Given the description of an element on the screen output the (x, y) to click on. 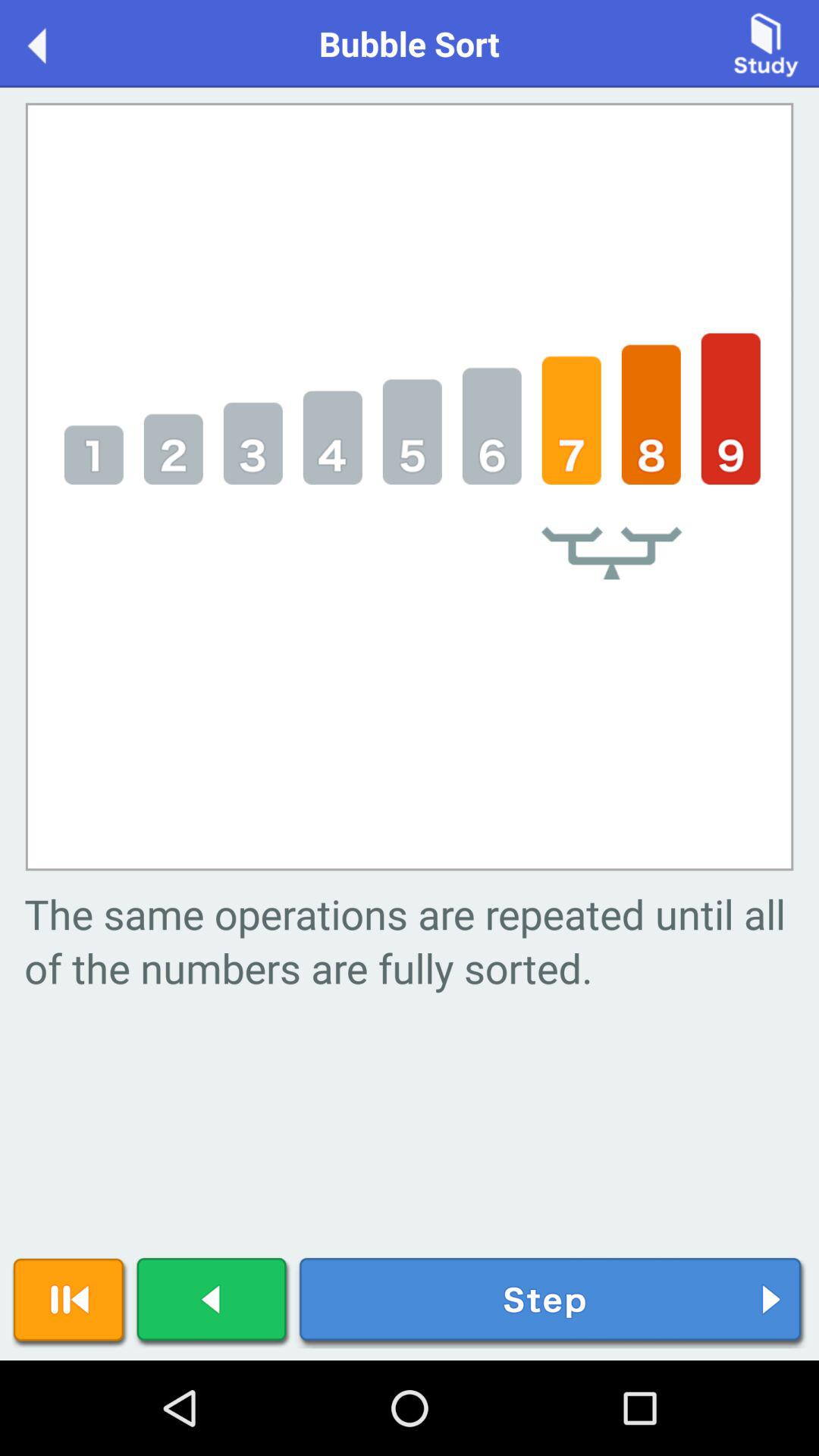
go to back (213, 1302)
